Given the description of an element on the screen output the (x, y) to click on. 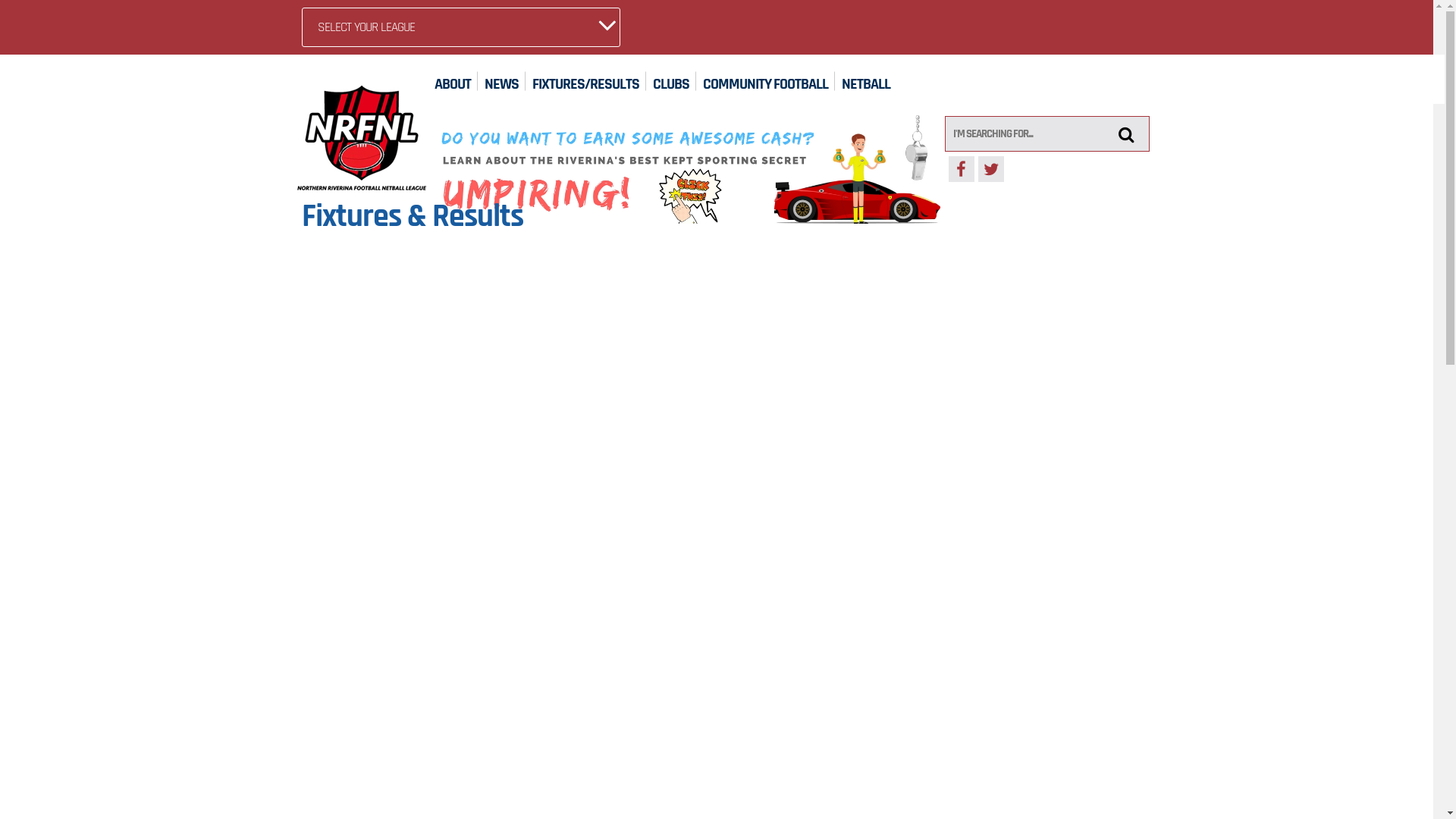
t Element type: text (991, 169)
ABOUT Element type: text (452, 80)
FIXTURES/RESULTS Element type: text (585, 80)
NEWS Element type: text (501, 80)
NETBALL Element type: text (865, 80)
COMMUNITY FOOTBALL Element type: text (765, 80)
CLUBS Element type: text (670, 80)
f Element type: text (960, 169)
s Element type: text (1126, 133)
